Given the description of an element on the screen output the (x, y) to click on. 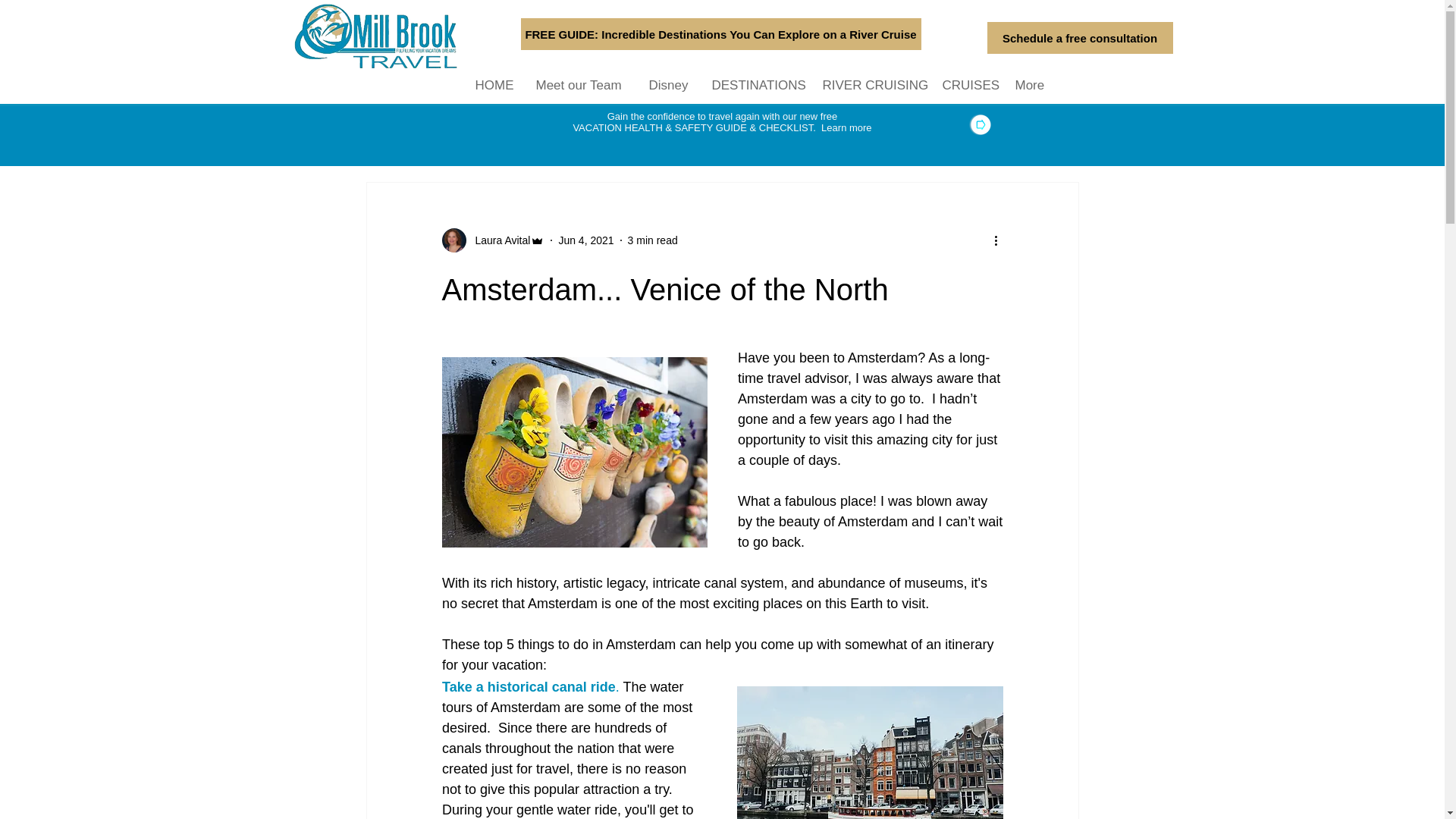
Travel News Articles (642, 135)
Schedule a free consultation (1080, 38)
3 min read (652, 239)
CRUISES (967, 85)
Disney (668, 85)
Jun 4, 2021 (584, 239)
Destinations (530, 135)
Travel (453, 135)
RIVER CRUISING (870, 85)
Laura Avital (497, 239)
Travel Experiences (767, 135)
DESTINATIONS (755, 85)
River Cruising (878, 135)
HOME (494, 85)
